Given the description of an element on the screen output the (x, y) to click on. 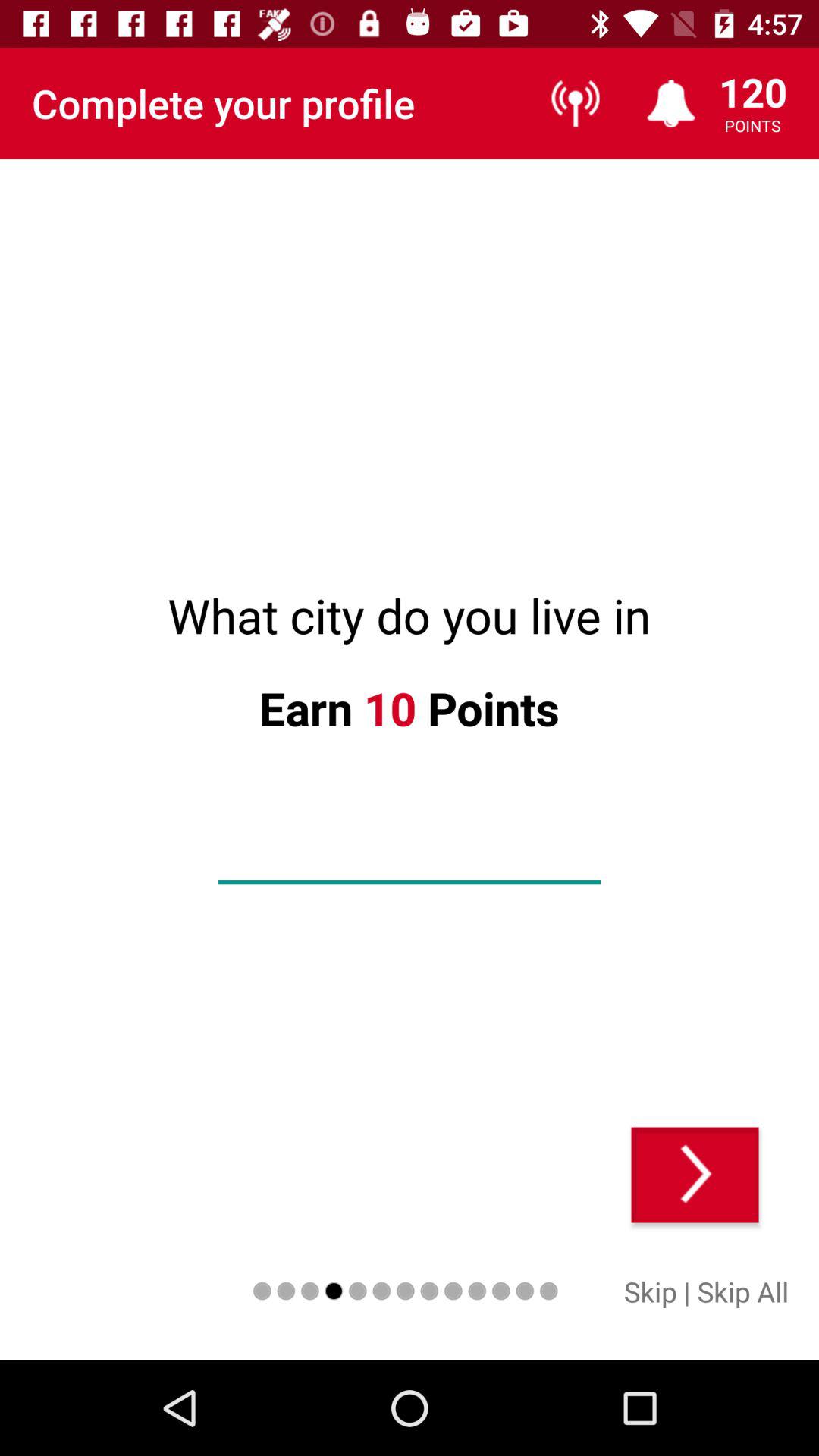
skip to next question (694, 1174)
